Given the description of an element on the screen output the (x, y) to click on. 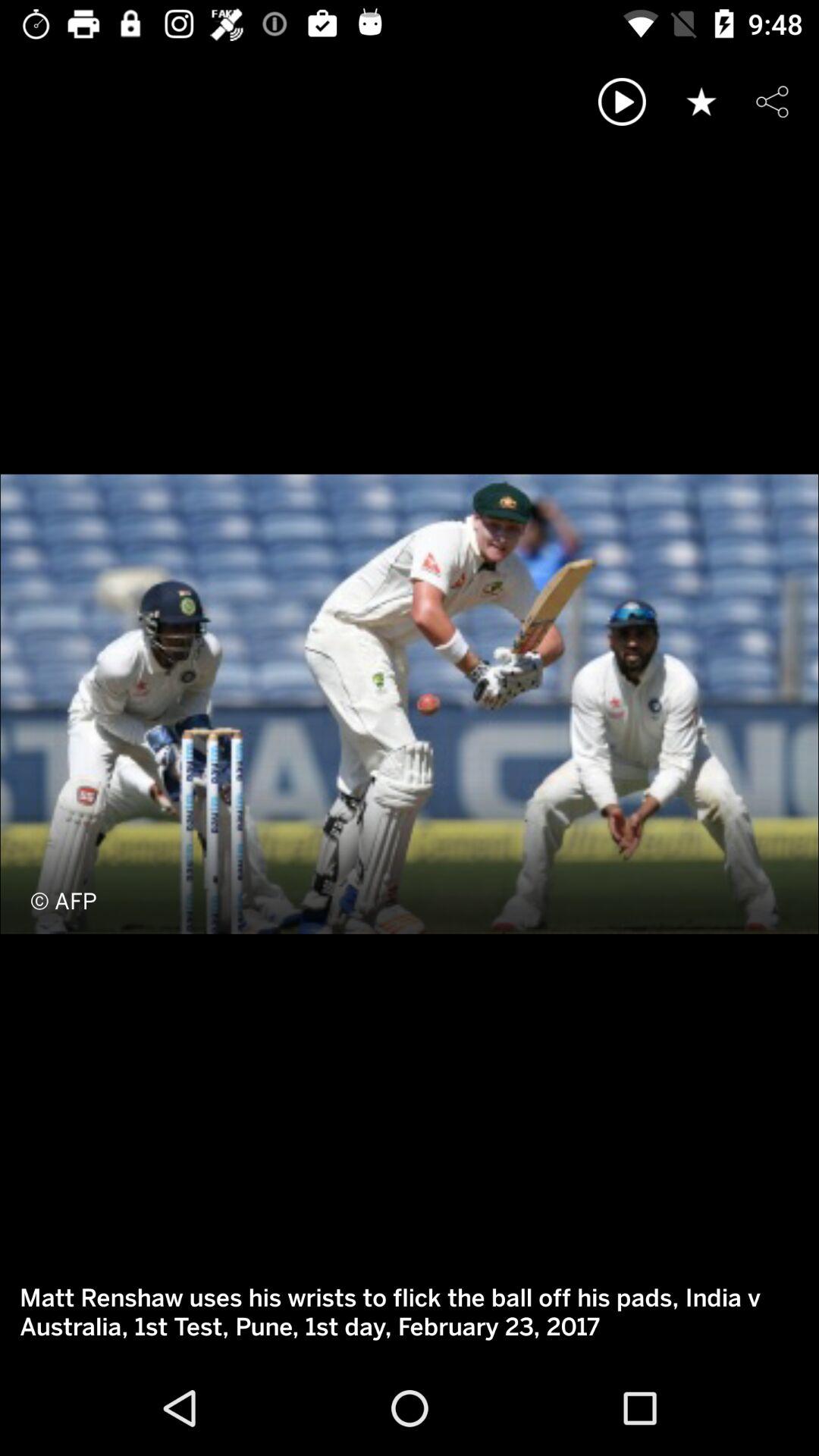
play video (622, 101)
